Given the description of an element on the screen output the (x, y) to click on. 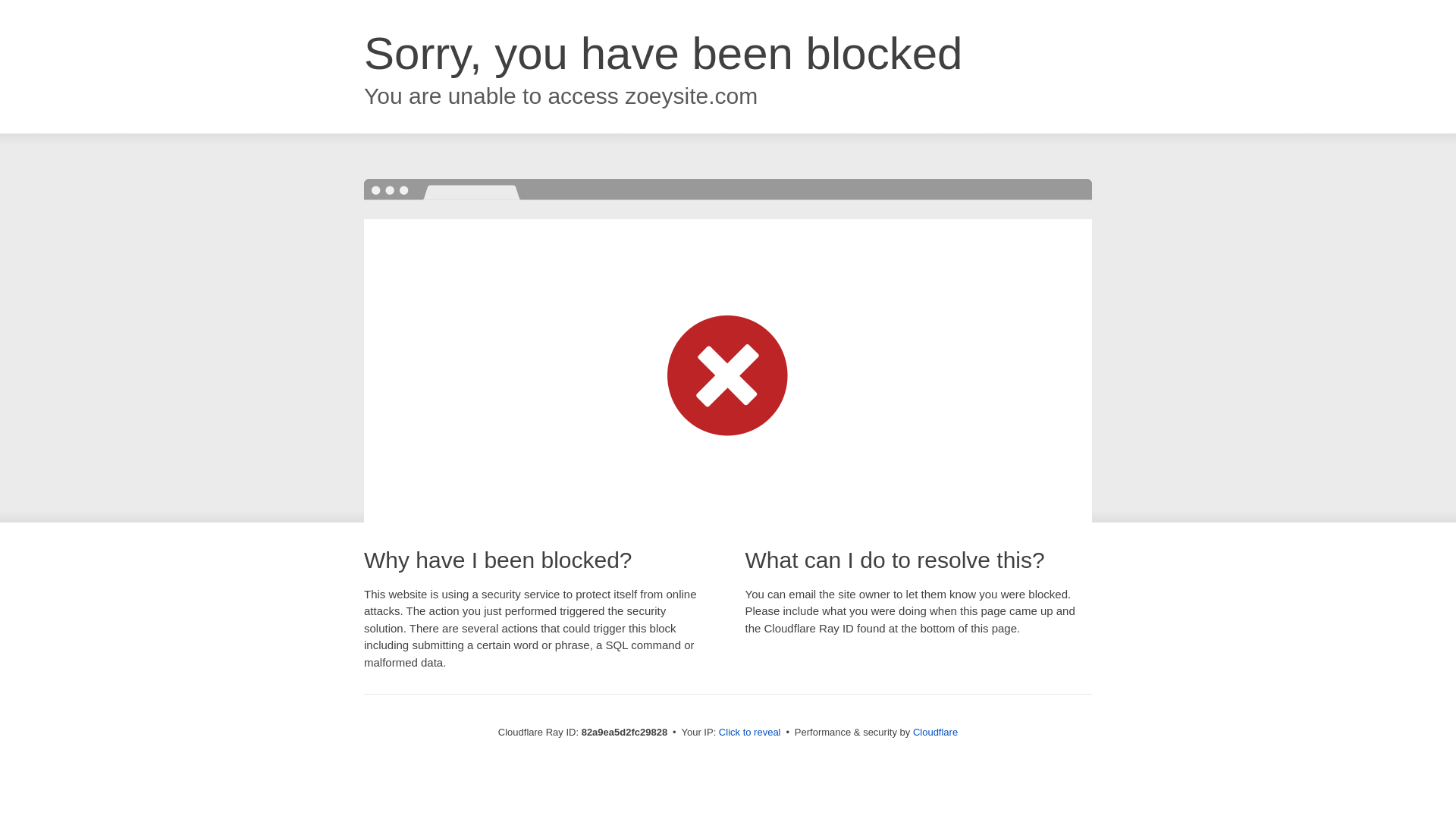
Cloudflare Element type: text (935, 731)
Click to reveal Element type: text (749, 732)
